Given the description of an element on the screen output the (x, y) to click on. 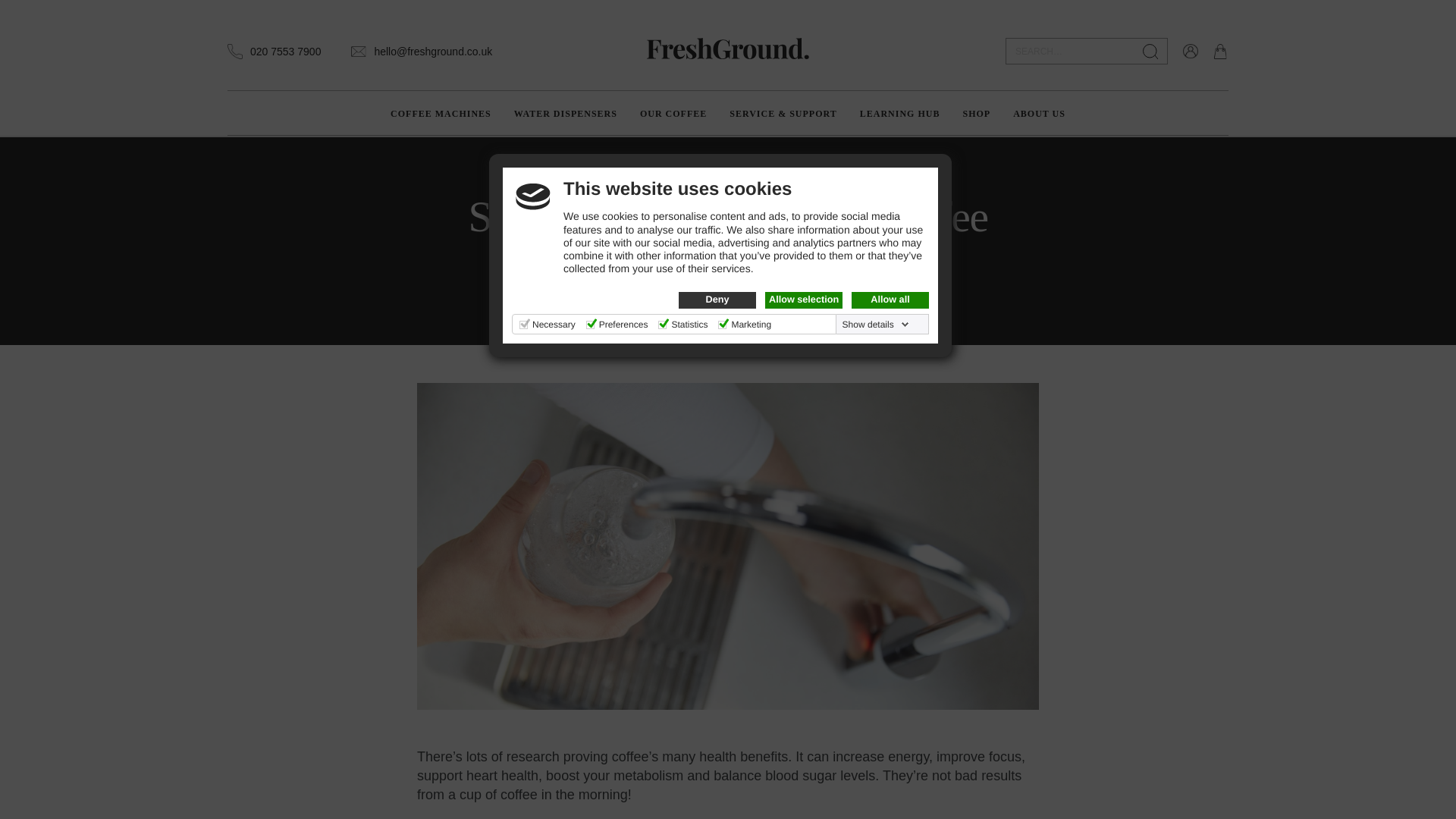
Allow all (889, 299)
Show details (876, 324)
Deny (716, 299)
Allow selection (804, 299)
